Given the description of an element on the screen output the (x, y) to click on. 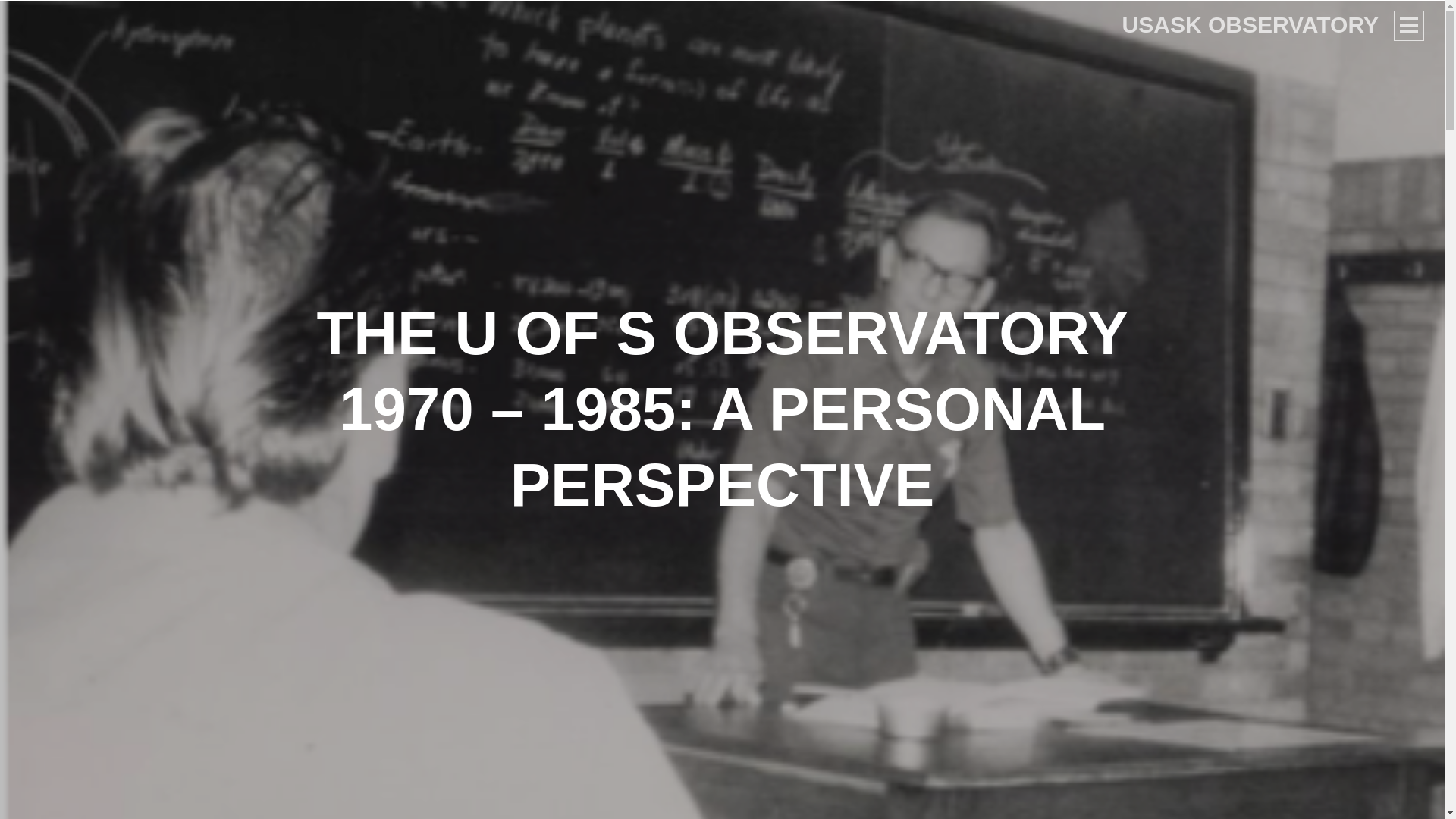
Search (40, 18)
PRIMARY MENU (1408, 25)
USASK OBSERVATORY (1250, 24)
